Given the description of an element on the screen output the (x, y) to click on. 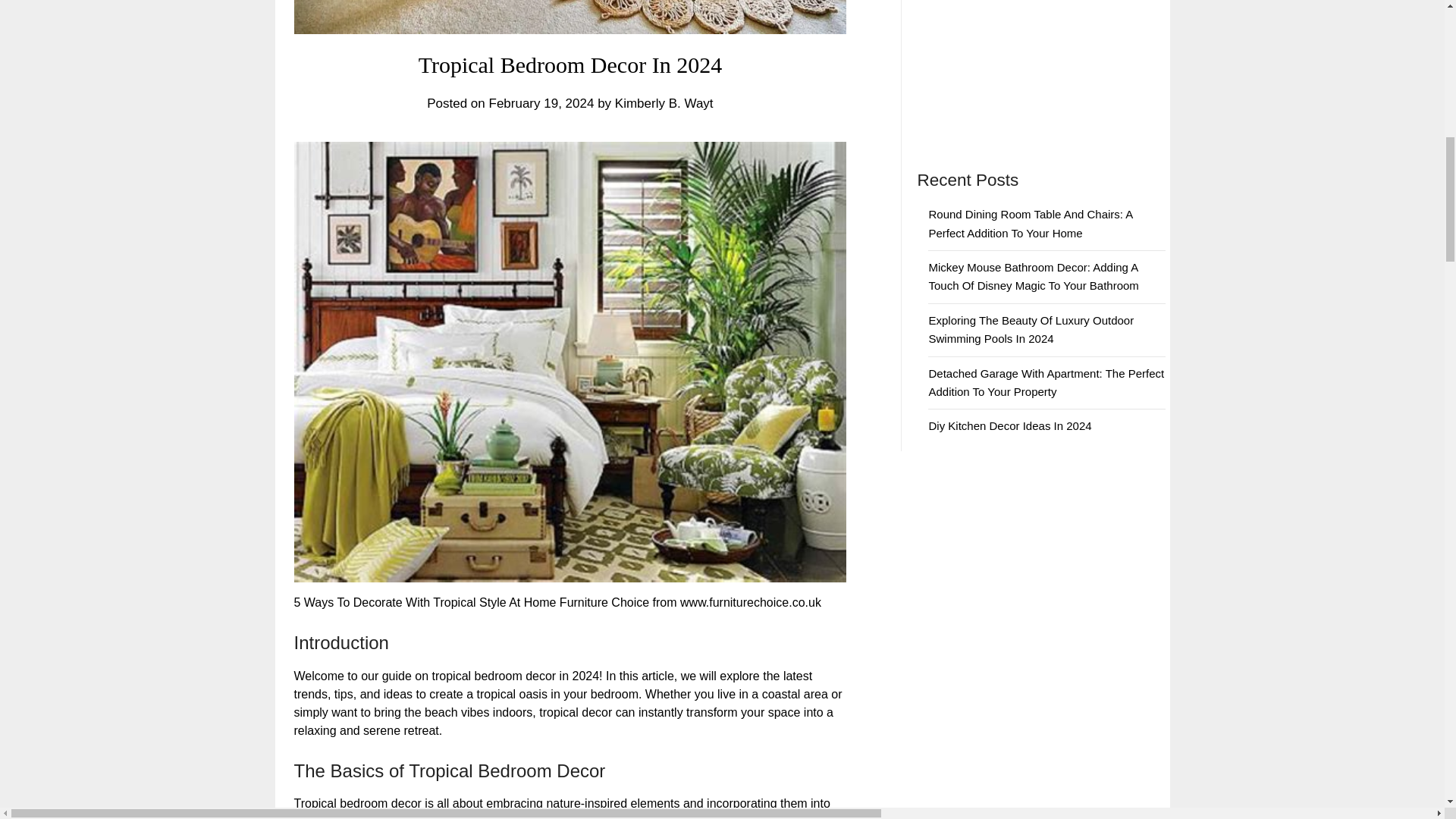
Kimberly B. Wayt (663, 103)
February 19, 2024 (540, 103)
Diy Kitchen Decor Ideas In 2024 (1009, 425)
